Given the description of an element on the screen output the (x, y) to click on. 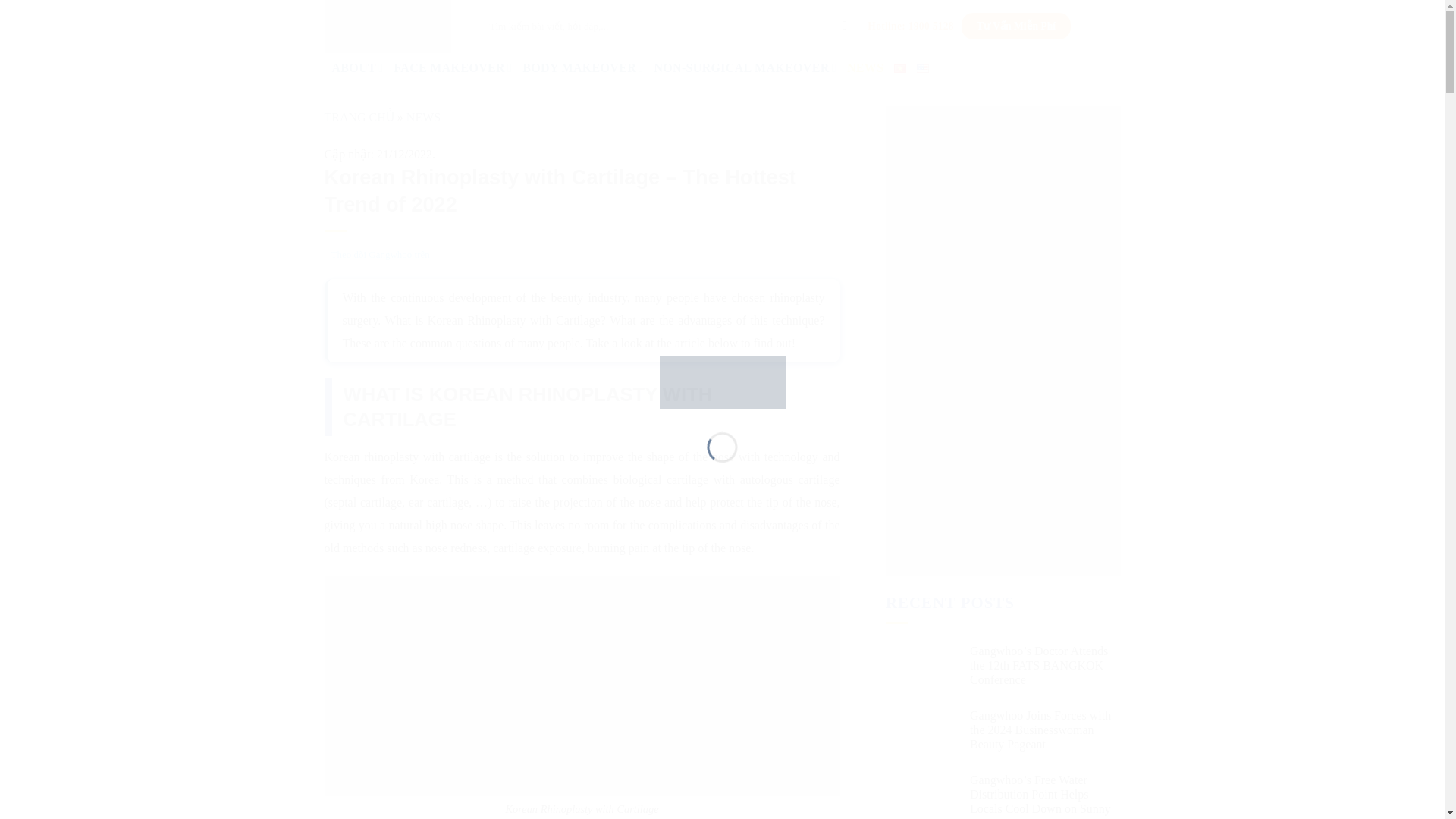
English (922, 67)
Hotline: 1900 5128 (910, 26)
FACE MAKEOVER (452, 68)
ABOUT (357, 68)
